Given the description of an element on the screen output the (x, y) to click on. 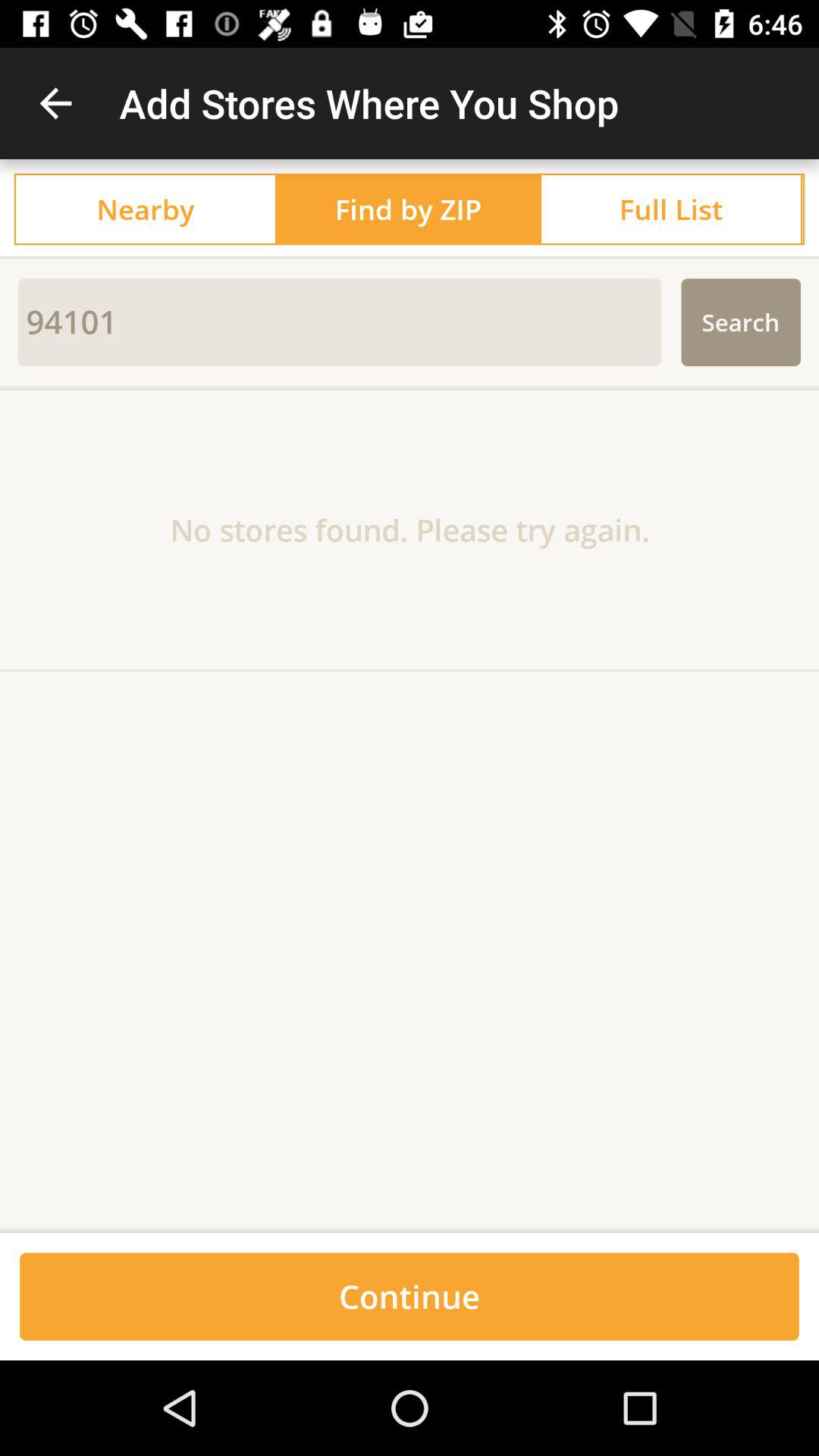
open item below no stores found icon (409, 1227)
